Given the description of an element on the screen output the (x, y) to click on. 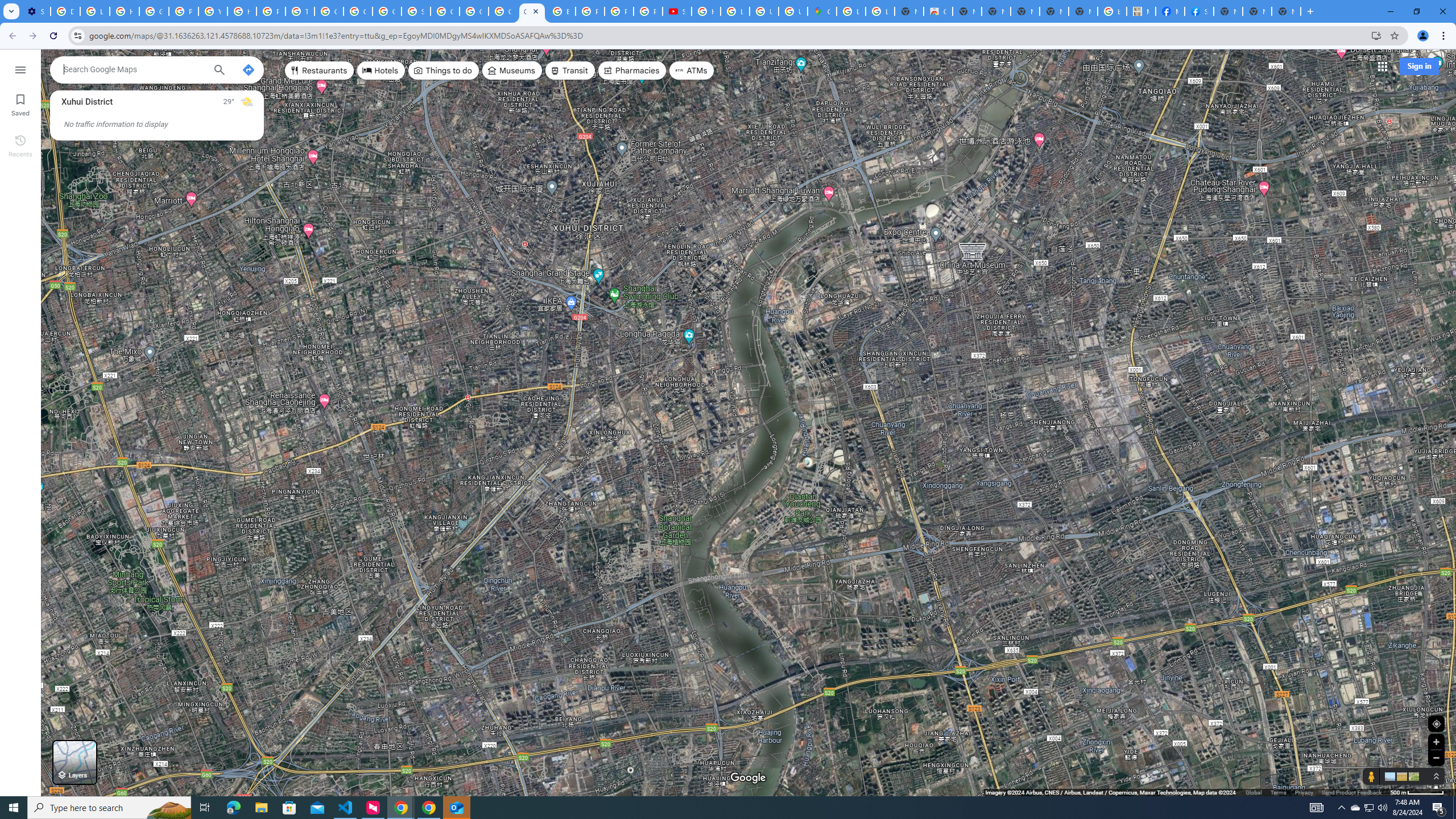
New Tab (1227, 11)
Chrome Web Store (938, 11)
Google Maps (821, 11)
Privacy Help Center - Policies Help (619, 11)
Restaurants (319, 70)
Google Maps (531, 11)
